Given the description of an element on the screen output the (x, y) to click on. 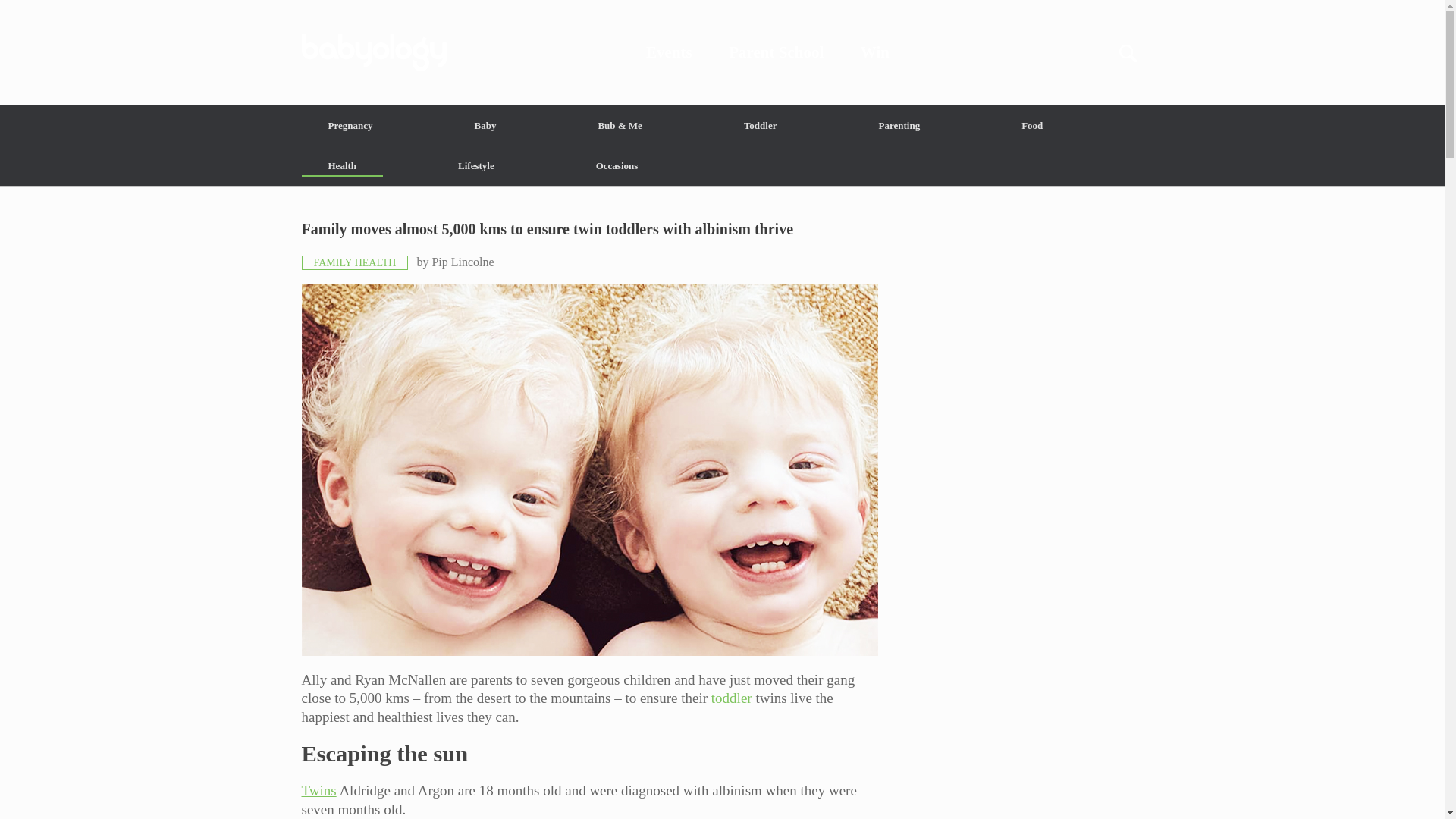
Twins (318, 790)
Health (342, 165)
Babyology (721, 52)
Parenting (898, 125)
Events (669, 52)
toddler (731, 697)
View all posts by Pip Lincolne (461, 261)
Pregnancy (349, 125)
Parent School (776, 52)
Baby (484, 125)
FAMILY HEALTH (355, 262)
Occasions (617, 165)
Food (1031, 125)
Lifestyle (475, 165)
Pip Lincolne (461, 261)
